Given the description of an element on the screen output the (x, y) to click on. 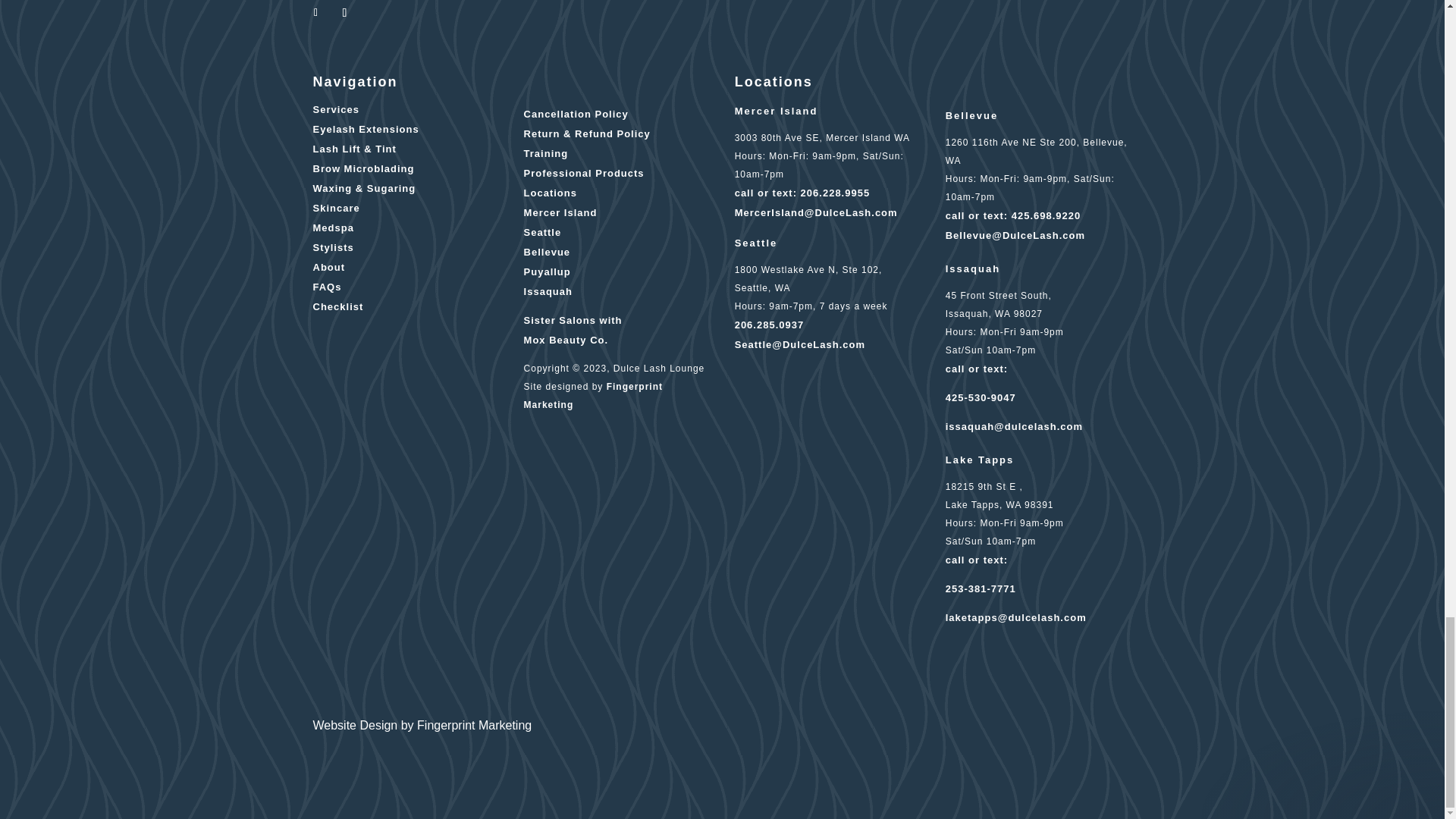
Follow on Instagram (343, 12)
Follow on Facebook (315, 12)
